Given the description of an element on the screen output the (x, y) to click on. 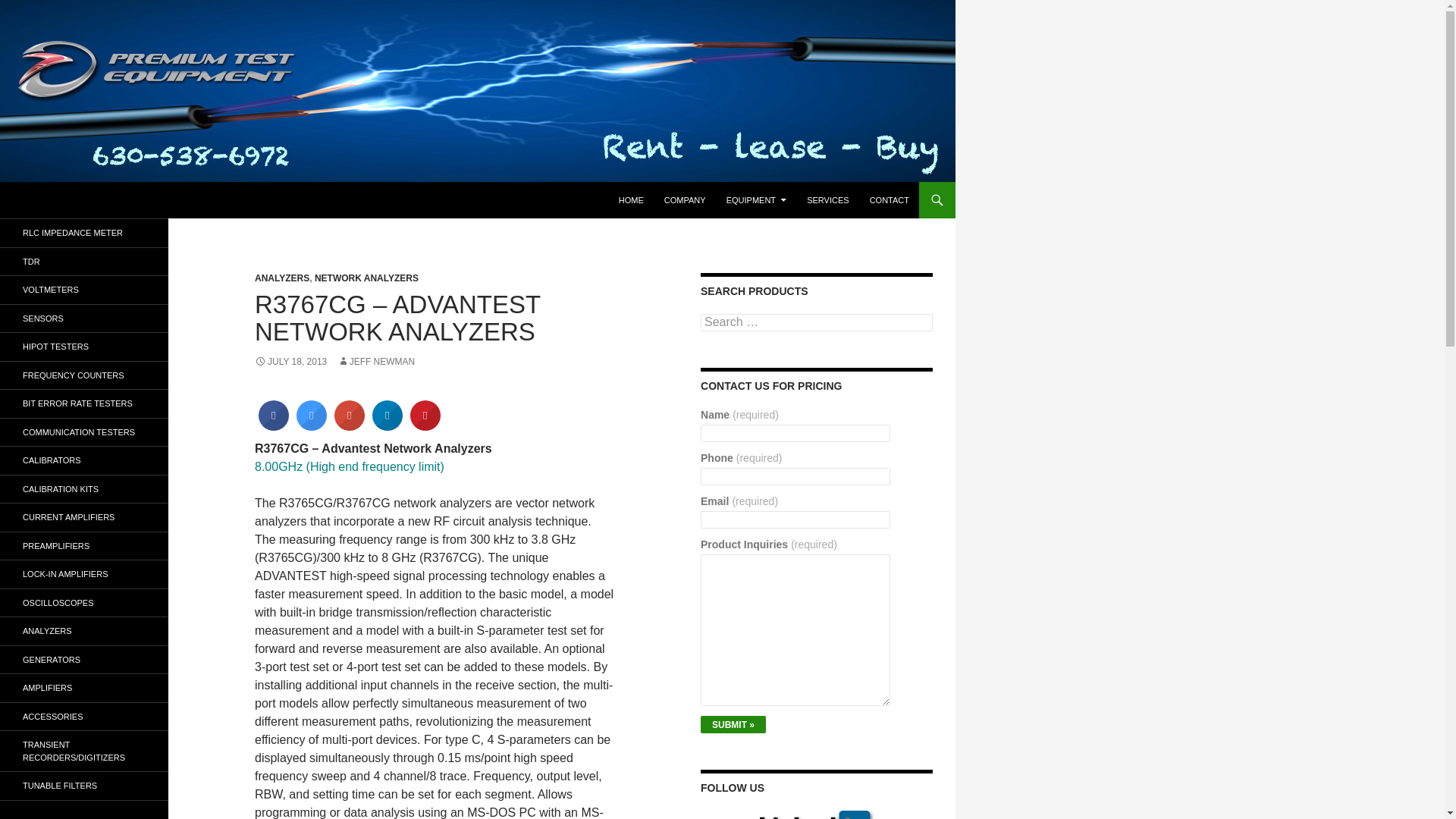
Premium Test Equipment (104, 199)
NETWORK ANALYZERS (366, 277)
Share to Pinterest (425, 426)
Share to LinkedIn (387, 426)
Share to Twitter (311, 426)
Search for: (816, 322)
JULY 18, 2013 (290, 361)
CONTACT (889, 199)
Share to Facebook (273, 426)
Search (23, 190)
COMPANY (684, 199)
Share to Google Plus (349, 426)
ANALYZERS (281, 277)
JEFF NEWMAN (375, 361)
EQUIPMENT (755, 199)
